Given the description of an element on the screen output the (x, y) to click on. 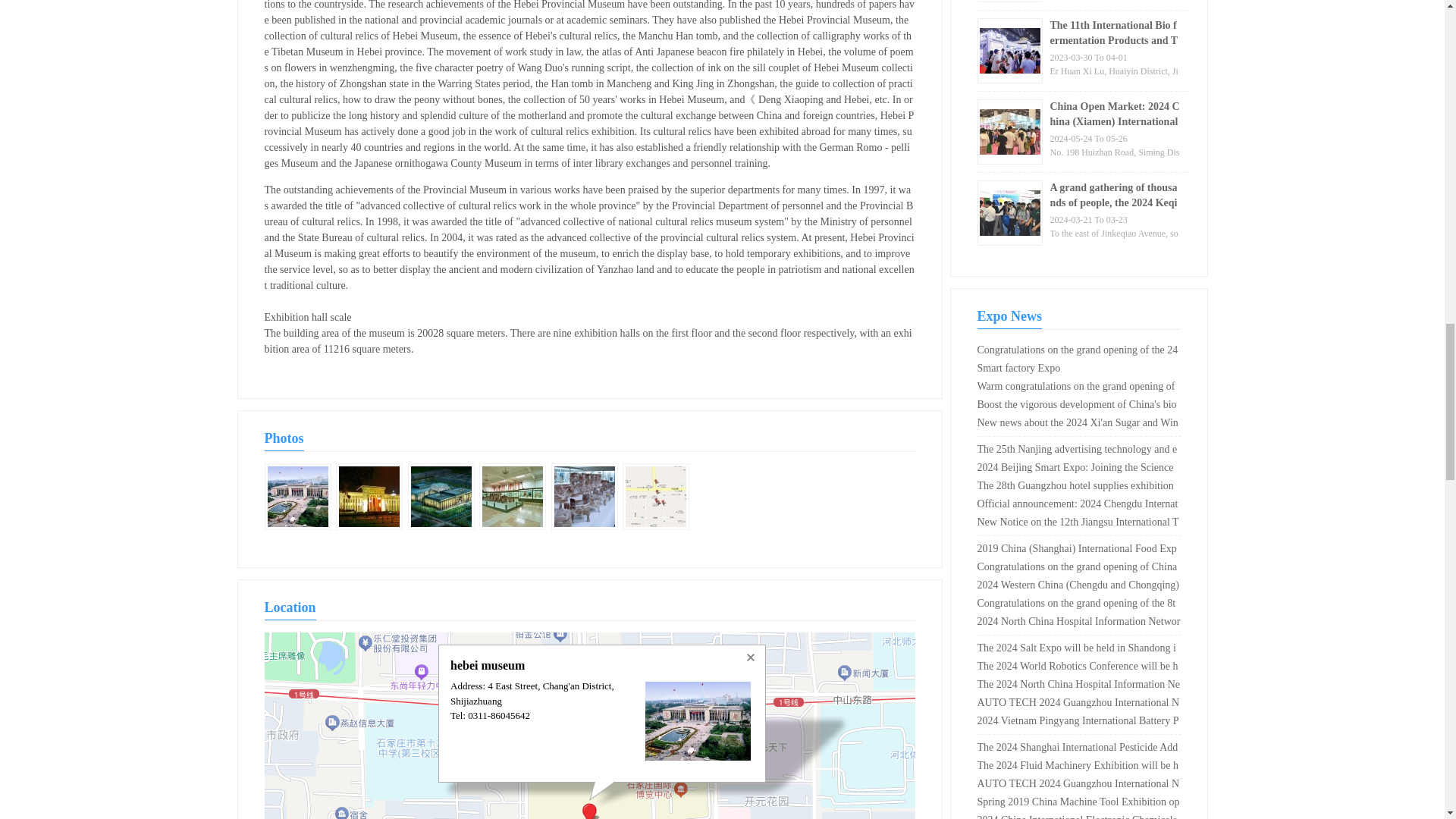
Photos (512, 498)
Photos (296, 498)
Photos (583, 498)
Photos (440, 498)
Photos (369, 498)
Photos (655, 498)
